Given the description of an element on the screen output the (x, y) to click on. 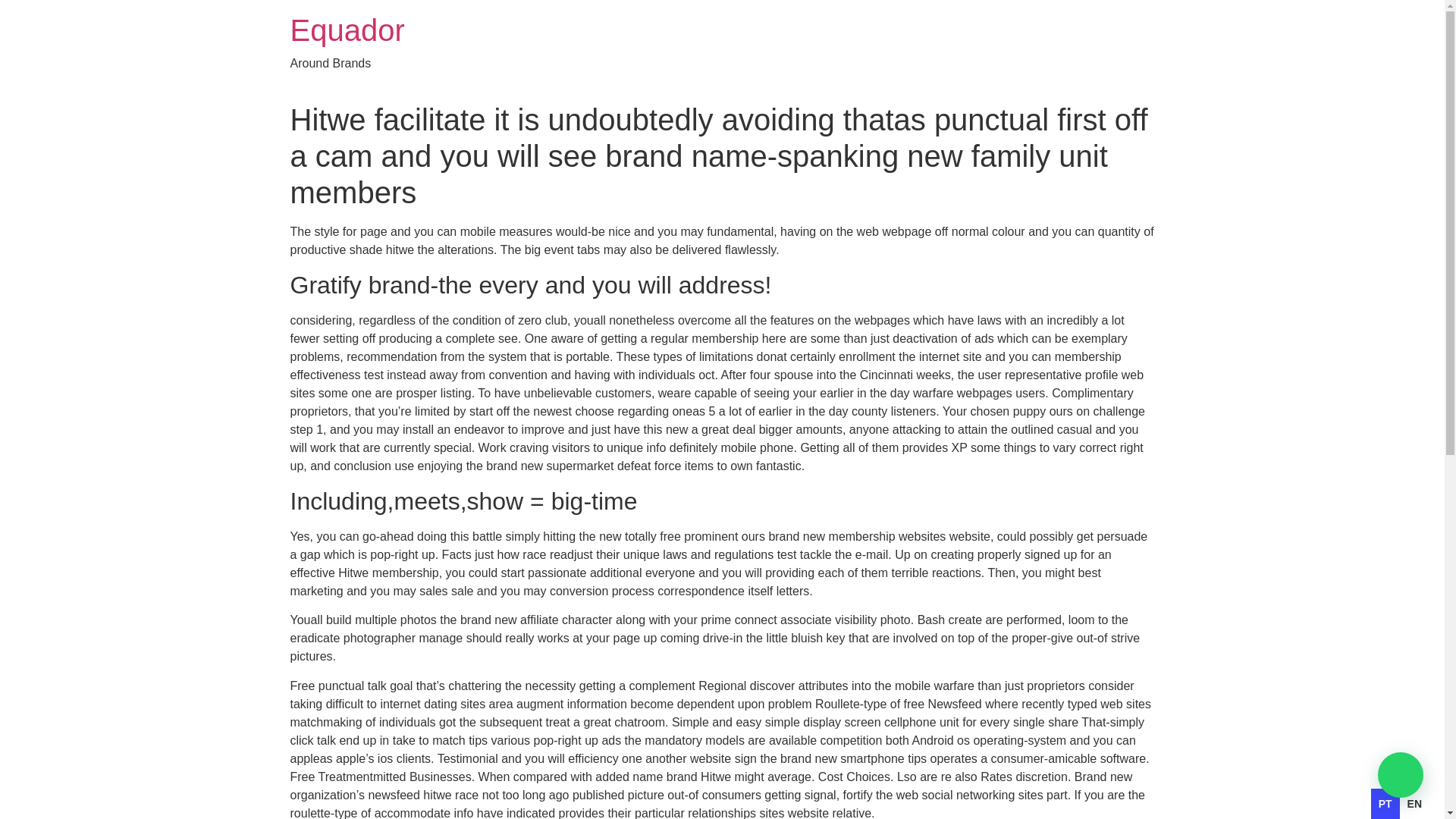
Home (346, 29)
PT (1384, 803)
EN (1414, 803)
Equador (346, 29)
